Given the description of an element on the screen output the (x, y) to click on. 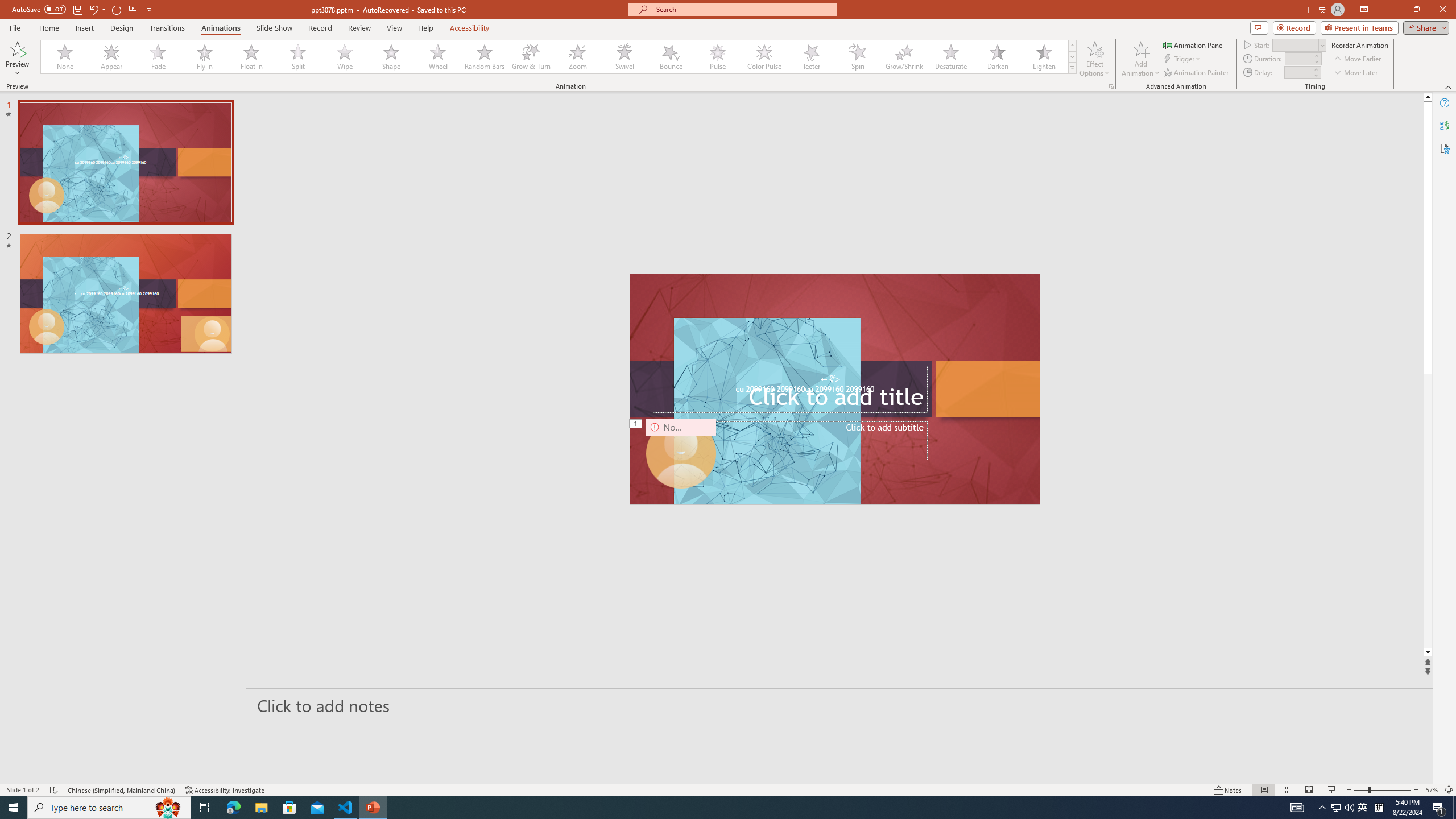
An abstract genetic concept (834, 389)
More Options... (1110, 85)
Pulse (717, 56)
Animation Duration (1298, 58)
Camera 9, No camera detected. (681, 453)
Grow & Turn (531, 56)
Add Animation (1141, 58)
Lighten (1043, 56)
